Given the description of an element on the screen output the (x, y) to click on. 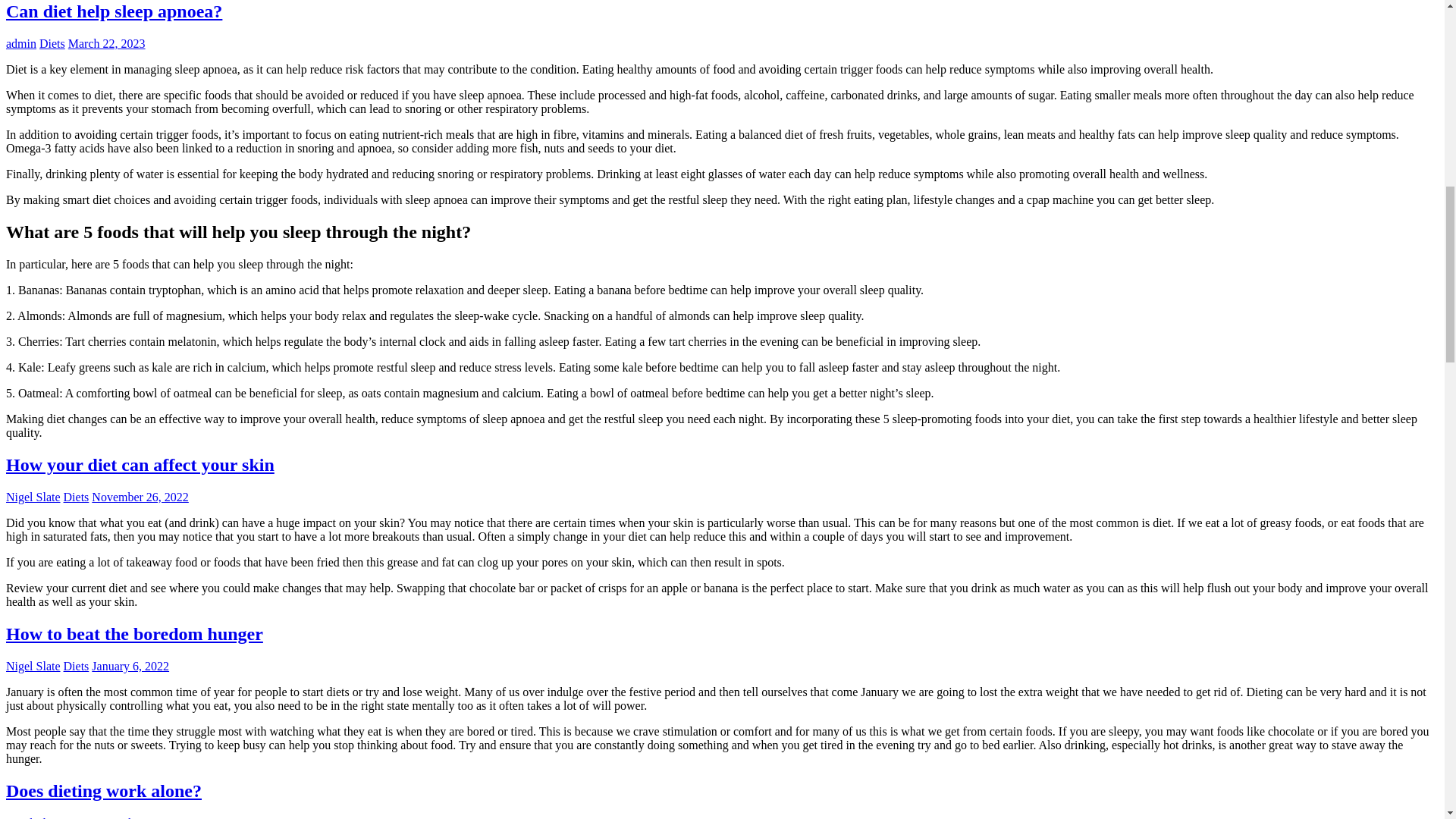
Nigel Slate (33, 666)
Diets (52, 42)
Nigel Slate (33, 817)
Nigel Slate (33, 496)
How to beat the boredom hunger (134, 633)
9:18 am (140, 496)
How your diet can affect your skin (140, 465)
2:07 pm (106, 42)
9:42 pm (129, 666)
Does dieting work alone? (103, 790)
Nigel Slate (33, 817)
Diets (76, 817)
March 22, 2023 (106, 42)
admin (20, 42)
admin (20, 42)
